Given the description of an element on the screen output the (x, y) to click on. 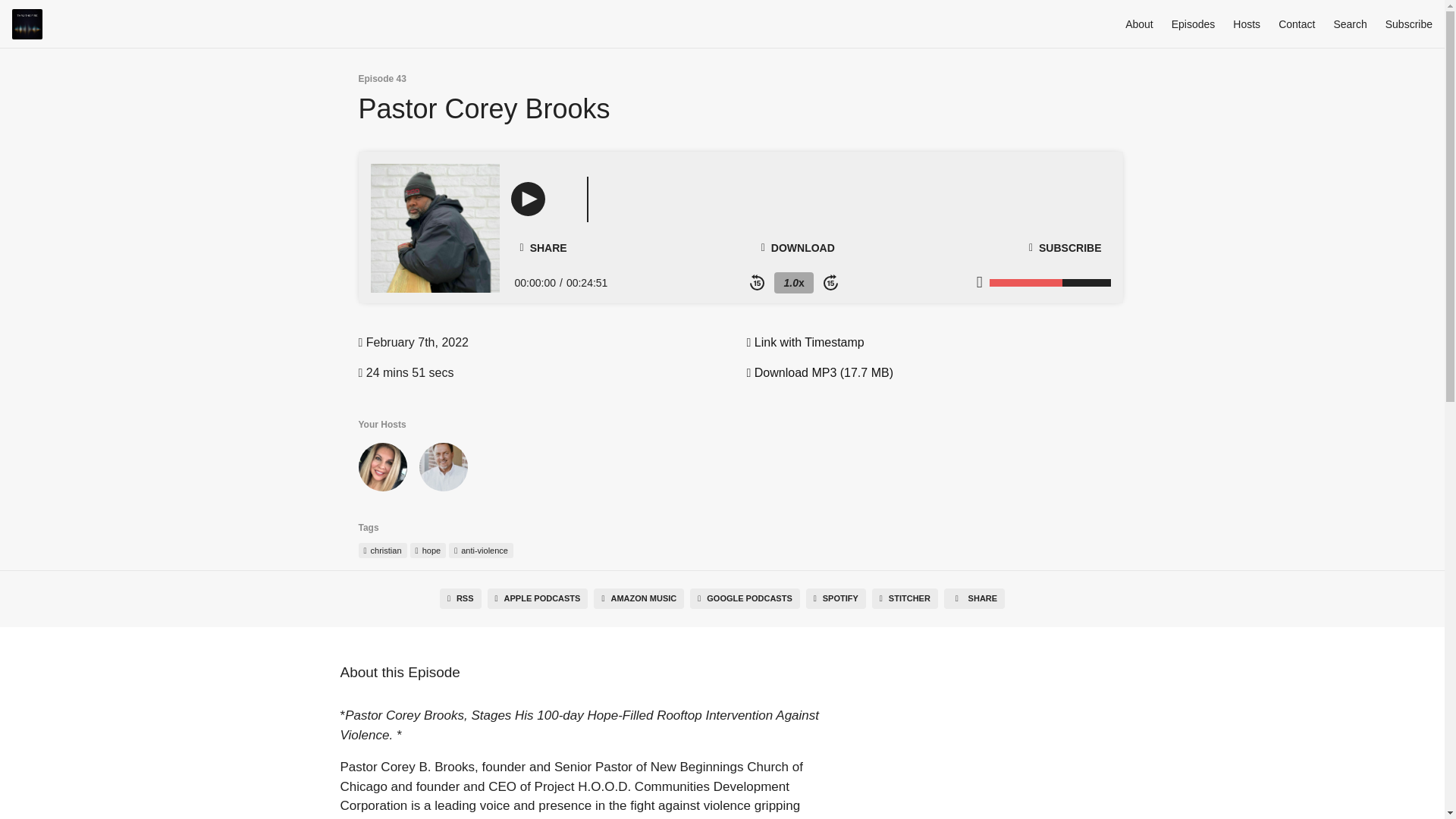
STITCHER (904, 598)
About (1139, 24)
Subscribe (1409, 24)
Dr. Marie Seltz (382, 470)
Contact (1296, 24)
SHARE (973, 598)
AMAZON MUSIC (639, 598)
SHARE (543, 247)
1.0x (793, 282)
hope (428, 549)
Dr. Gregory Seltz (443, 470)
DOWNLOAD (798, 247)
APPLE PODCASTS (537, 598)
RSS (460, 598)
Hosts (1246, 24)
